Given the description of an element on the screen output the (x, y) to click on. 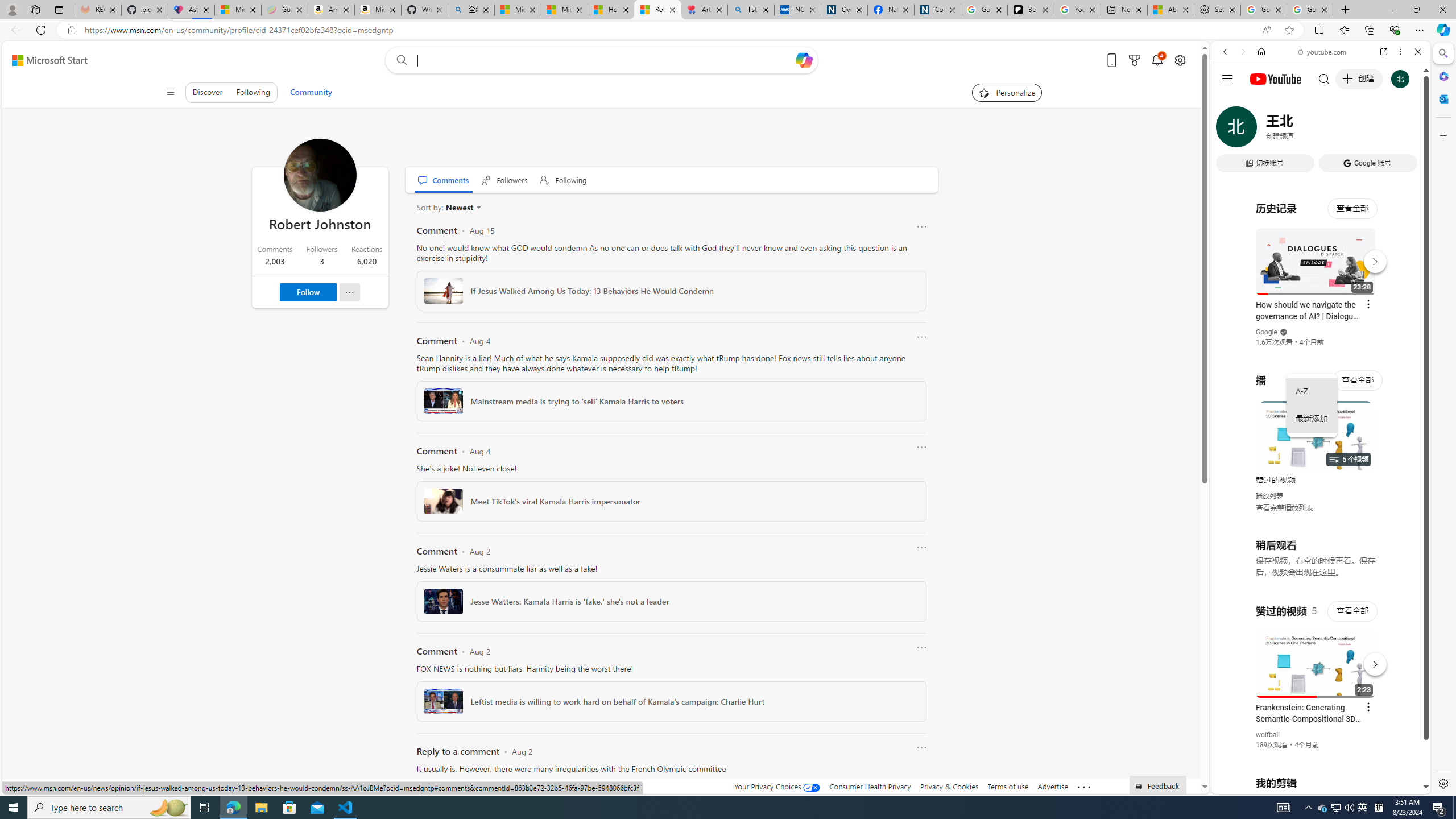
Content thumbnail (443, 801)
